Given the description of an element on the screen output the (x, y) to click on. 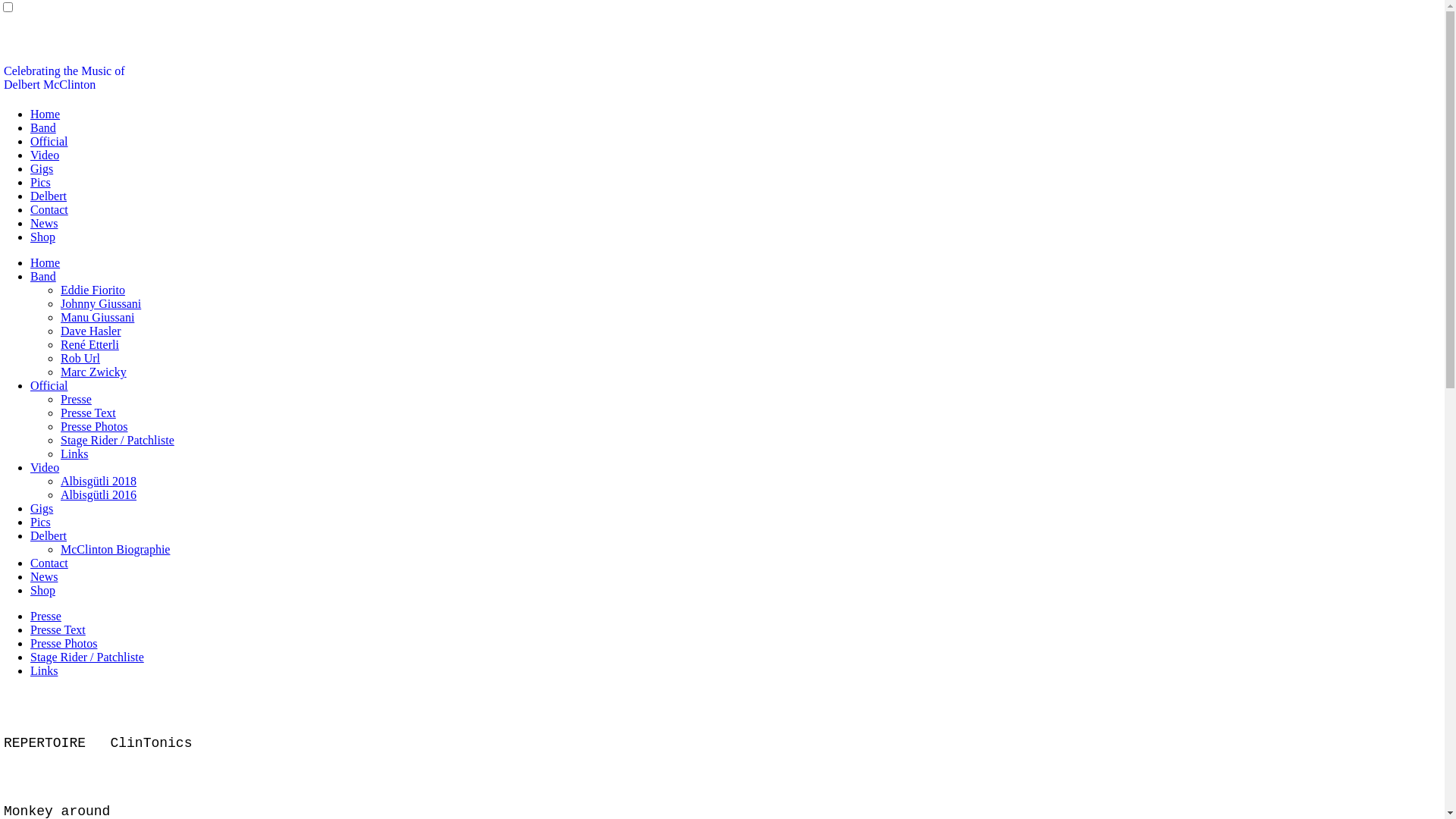
Home Element type: text (44, 262)
Official Element type: text (48, 140)
Stage Rider / Patchliste Element type: text (87, 656)
Delbert Element type: text (48, 535)
Pics Element type: text (40, 521)
Presse Photos Element type: text (63, 643)
Stage Rider / Patchliste Element type: text (117, 439)
Band Element type: text (43, 275)
News Element type: text (43, 222)
Dave Hasler Element type: text (90, 330)
Presse Photos Element type: text (93, 426)
Manu Giussani Element type: text (97, 316)
Links Element type: text (73, 453)
News Element type: text (43, 576)
Gigs Element type: text (41, 508)
Video Element type: text (44, 467)
Shop Element type: text (42, 589)
Presse Text Element type: text (57, 629)
Gigs Element type: text (41, 168)
Eddie Fiorito Element type: text (92, 289)
Links Element type: text (43, 670)
Presse Element type: text (75, 398)
Contact Element type: text (49, 209)
Rob Url Element type: text (80, 357)
Johnny Giussani Element type: text (100, 303)
Celebrating the Music of
Delbert McClinton Element type: text (64, 77)
Contact Element type: text (49, 562)
McClinton Biographie Element type: text (114, 548)
Band Element type: text (43, 127)
Presse Element type: text (45, 615)
Official Element type: text (48, 385)
Presse Text Element type: text (88, 412)
Delbert Element type: text (48, 195)
Video Element type: text (44, 154)
Home Element type: text (44, 113)
Shop Element type: text (42, 236)
Pics Element type: text (40, 181)
Marc Zwicky Element type: text (93, 371)
